Given the description of an element on the screen output the (x, y) to click on. 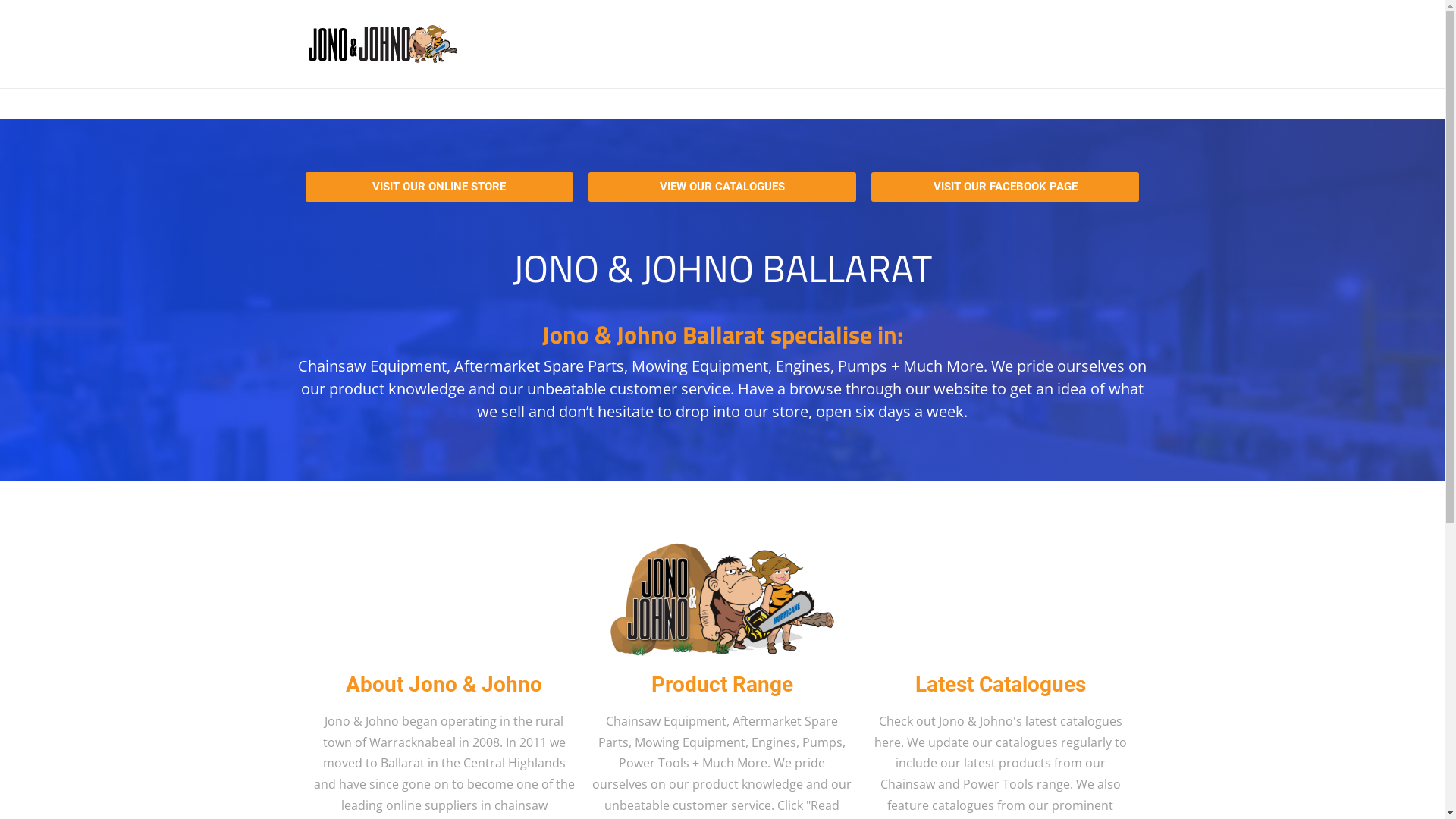
VISIT OUR FACEBOOK PAGE Element type: text (1005, 186)
VISIT OUR ONLINE STORE Element type: text (438, 186)
VIEW OUR CATALOGUES Element type: text (722, 186)
